Given the description of an element on the screen output the (x, y) to click on. 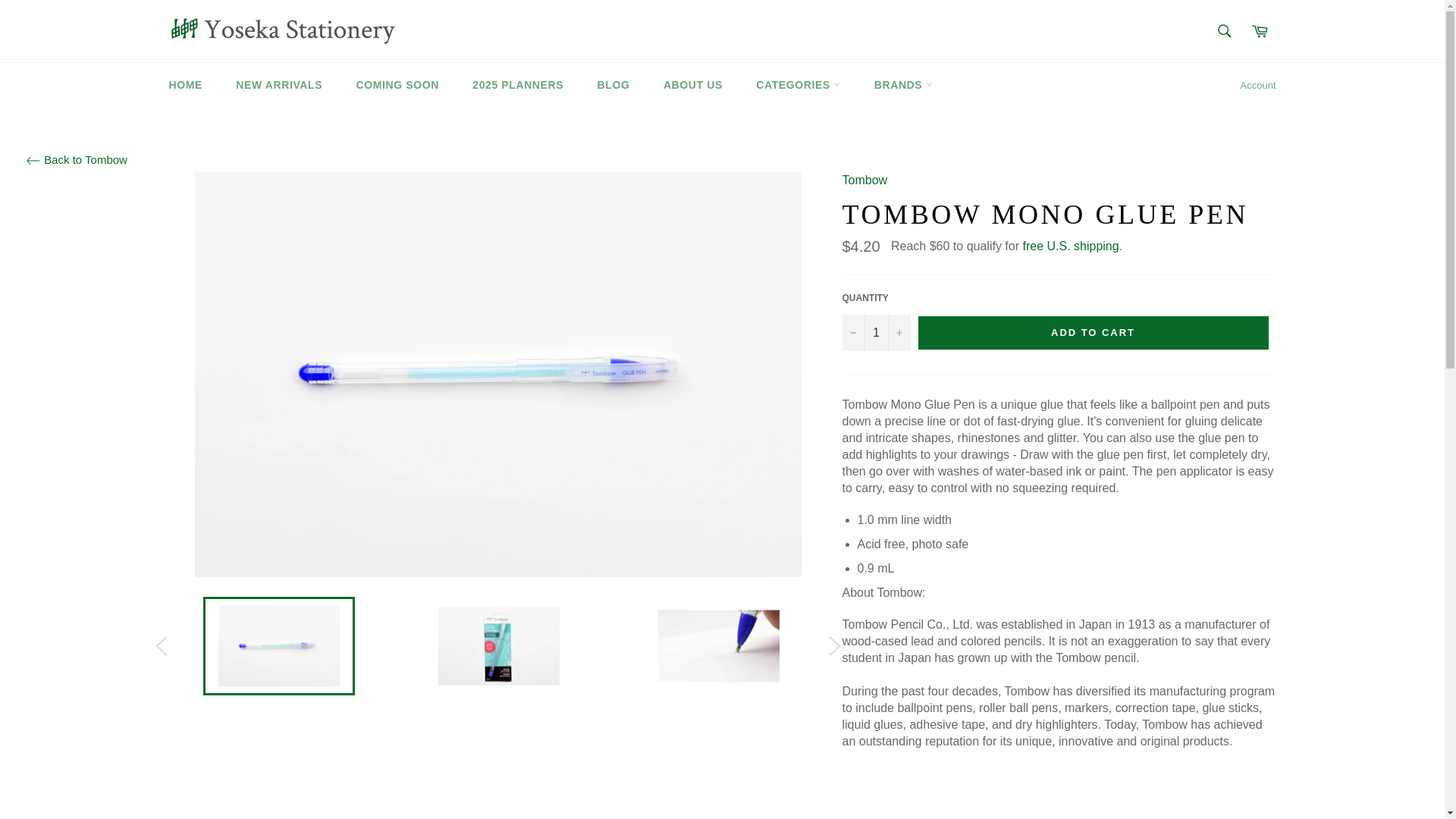
YouTube video player (1058, 807)
1 (875, 332)
